Given the description of an element on the screen output the (x, y) to click on. 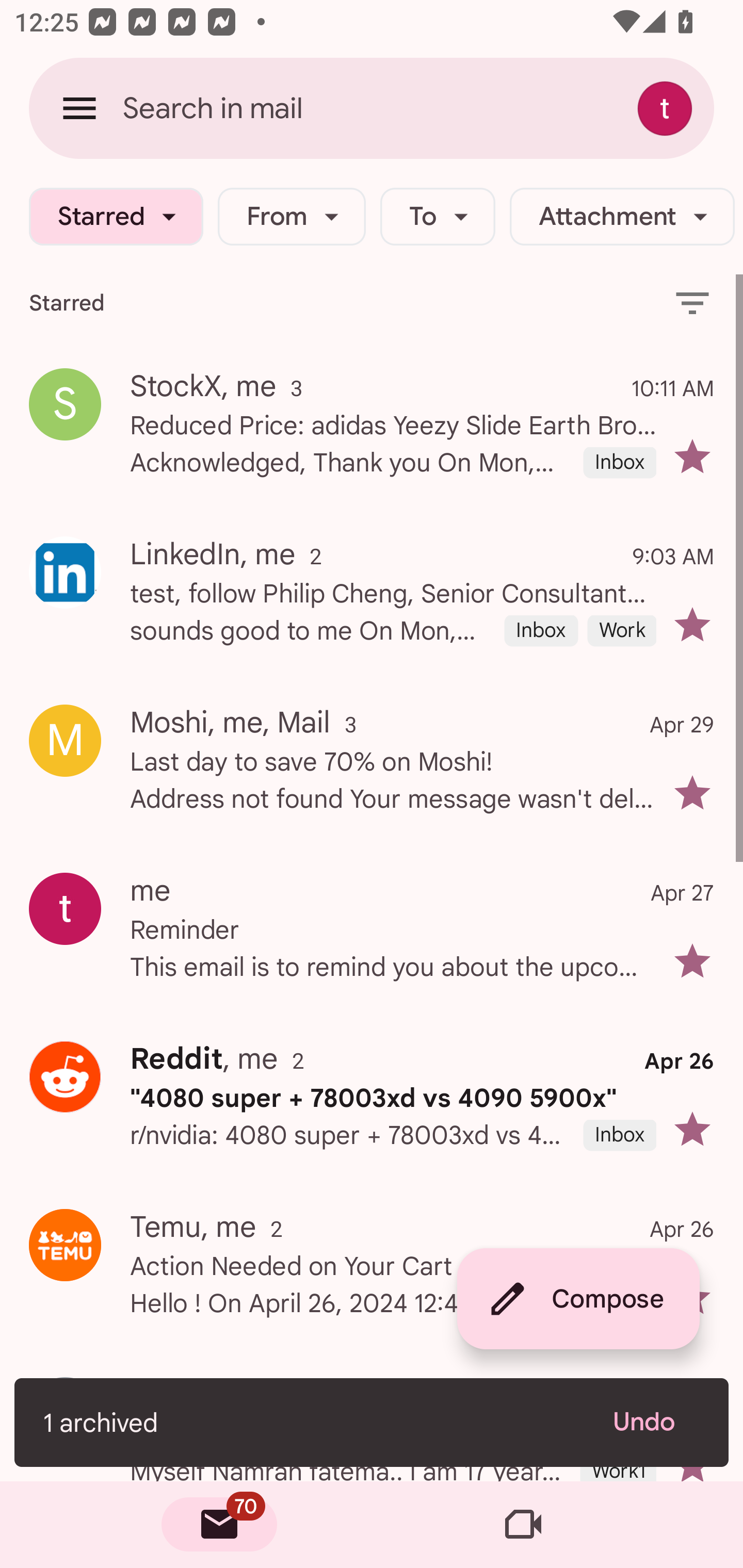
Open navigation drawer (79, 108)
Starred (115, 217)
From (291, 217)
To (437, 217)
Attachment (621, 217)
Filter icon (692, 302)
Compose (577, 1299)
Undo (655, 1422)
Meet (523, 1524)
